Given the description of an element on the screen output the (x, y) to click on. 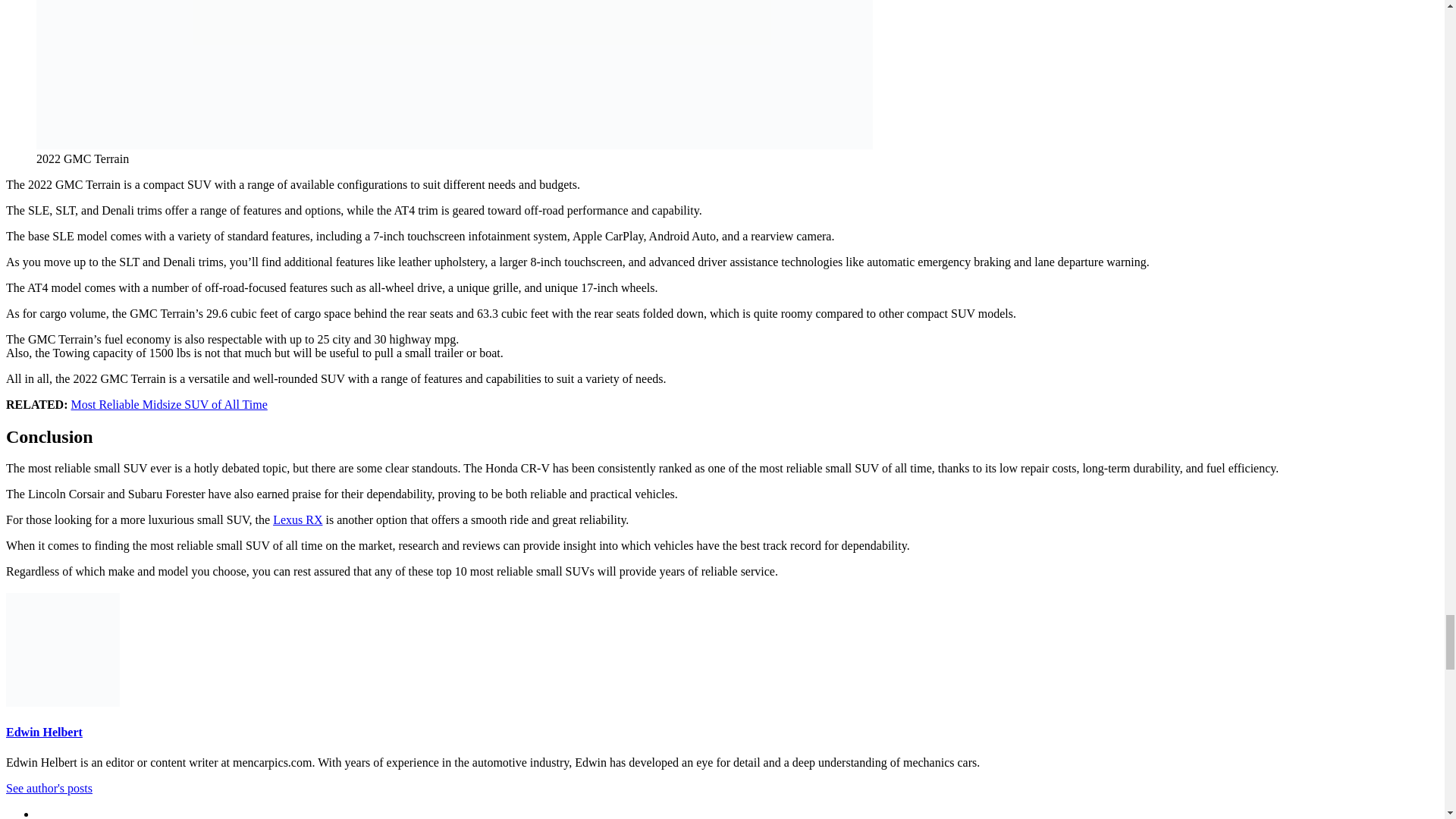
Most Reliable Midsize SUV of All Time (169, 404)
See author's posts (49, 788)
Lexus RX (297, 519)
Edwin Helbert (43, 731)
